Given the description of an element on the screen output the (x, y) to click on. 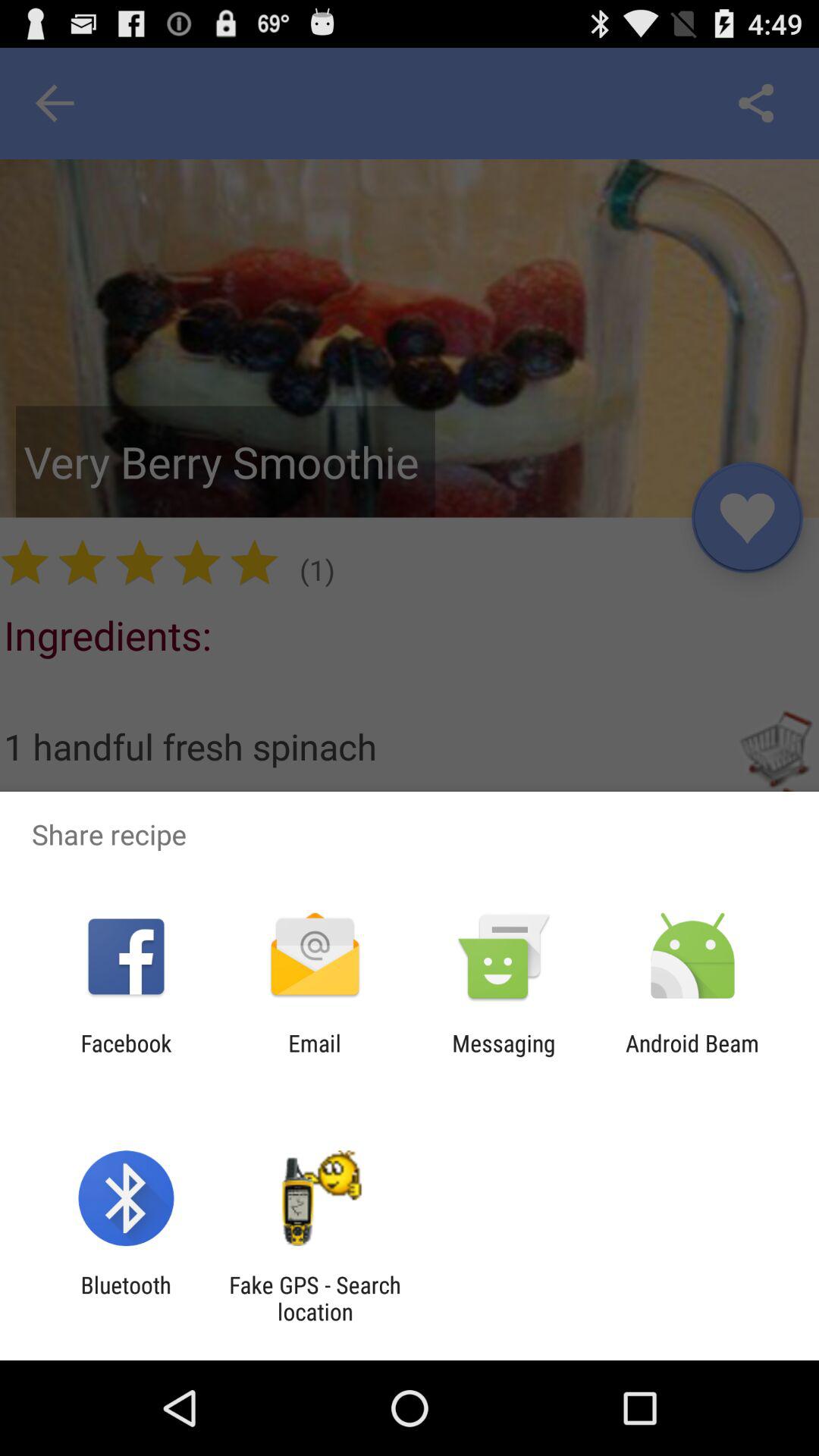
tap item to the left of messaging app (314, 1056)
